Given the description of an element on the screen output the (x, y) to click on. 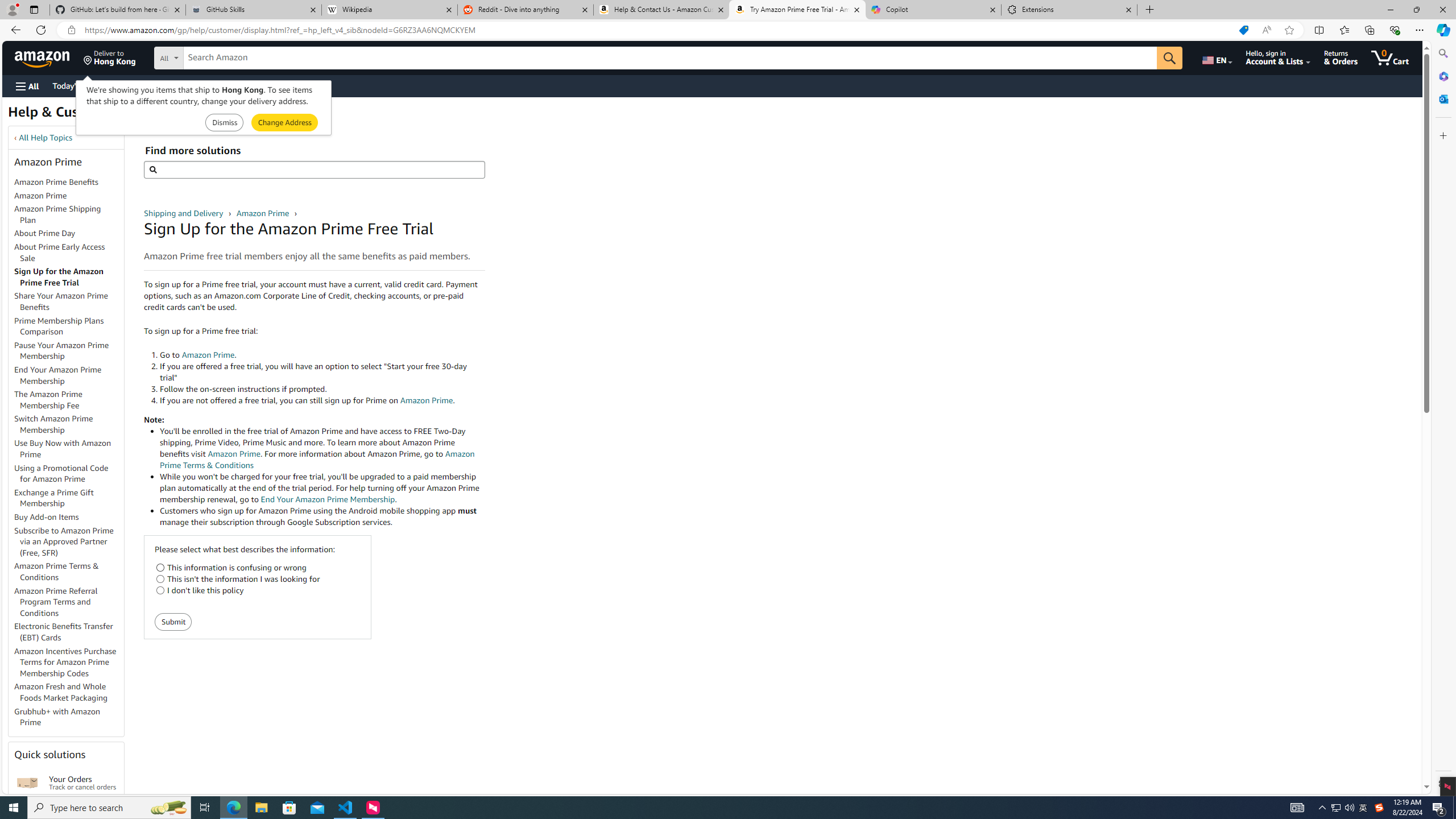
All Help Topics (45, 137)
Amazon (43, 57)
Sign Up for the Amazon Prime Free Trial (68, 277)
GitHub Skills (253, 9)
Choose a language for shopping. (1216, 57)
Returns & Orders (1340, 57)
Extensions (1068, 9)
Amazon Prime Benefits (56, 181)
